Given the description of an element on the screen output the (x, y) to click on. 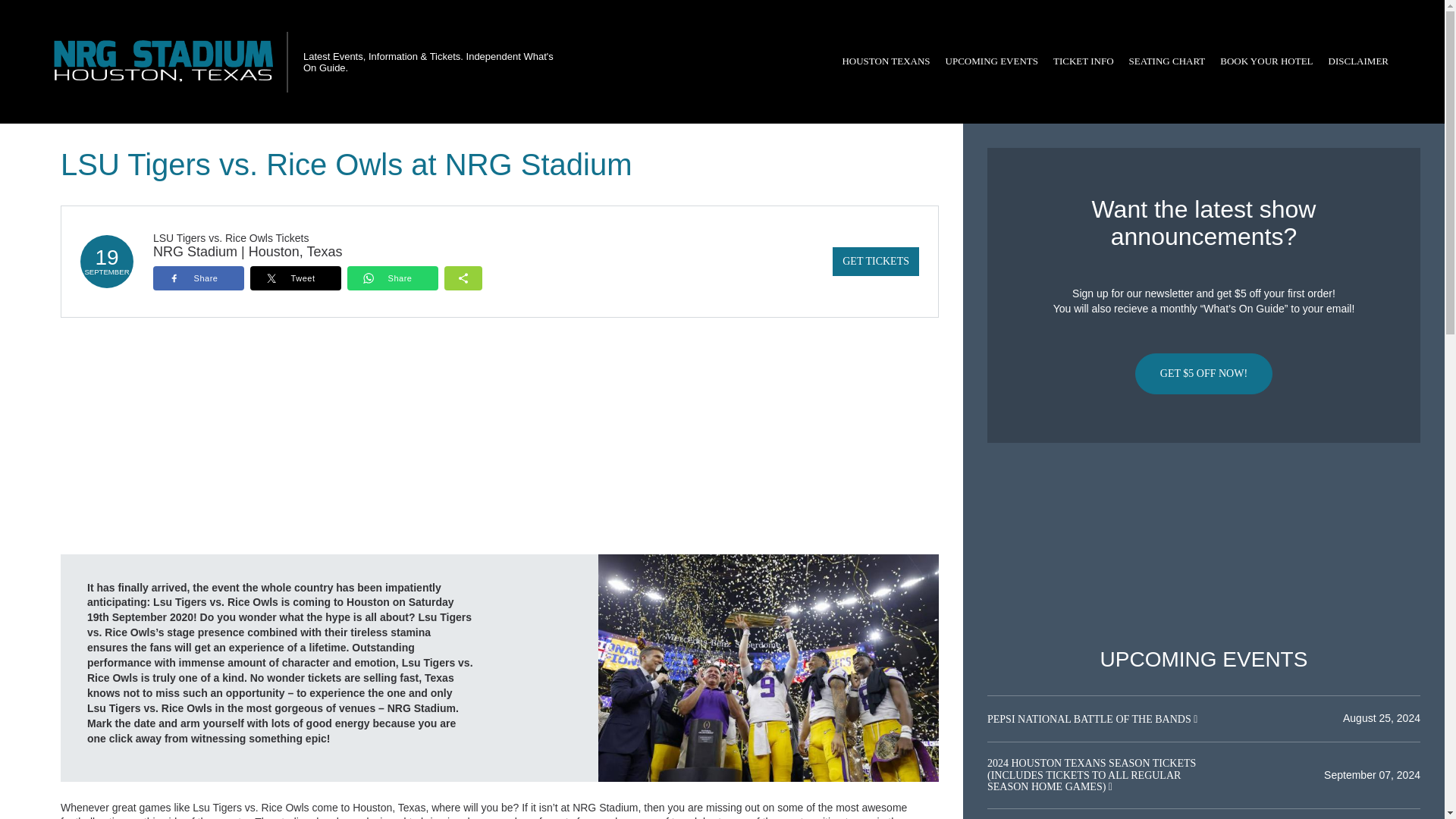
TICKET INFO (1083, 61)
DISCLAIMER (1358, 61)
LSU Tigers vs. Rice Owls Tickets (230, 237)
GET TICKETS (875, 261)
SEATING CHART (1166, 61)
LSU Tigers vs. Rice Owls at NRG Stadium (768, 667)
UPCOMING EVENTS (991, 61)
HOUSTON TEXANS (885, 61)
Advertisement (1204, 545)
